Given the description of an element on the screen output the (x, y) to click on. 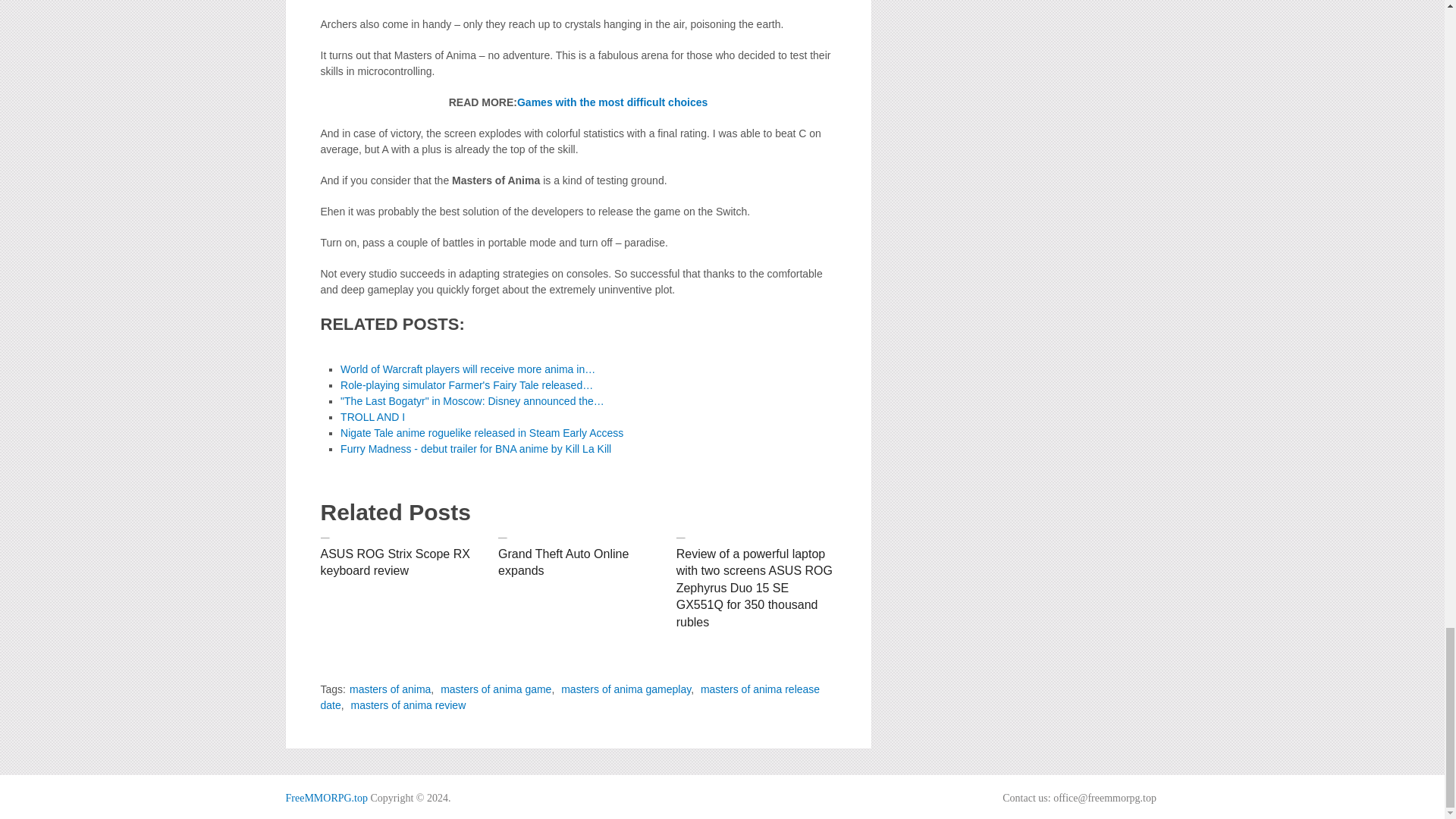
ASUS ROG Strix Scope RX keyboard review (394, 562)
Grand Theft Auto Online expands (562, 562)
 Video game reviews and news (326, 797)
